Given the description of an element on the screen output the (x, y) to click on. 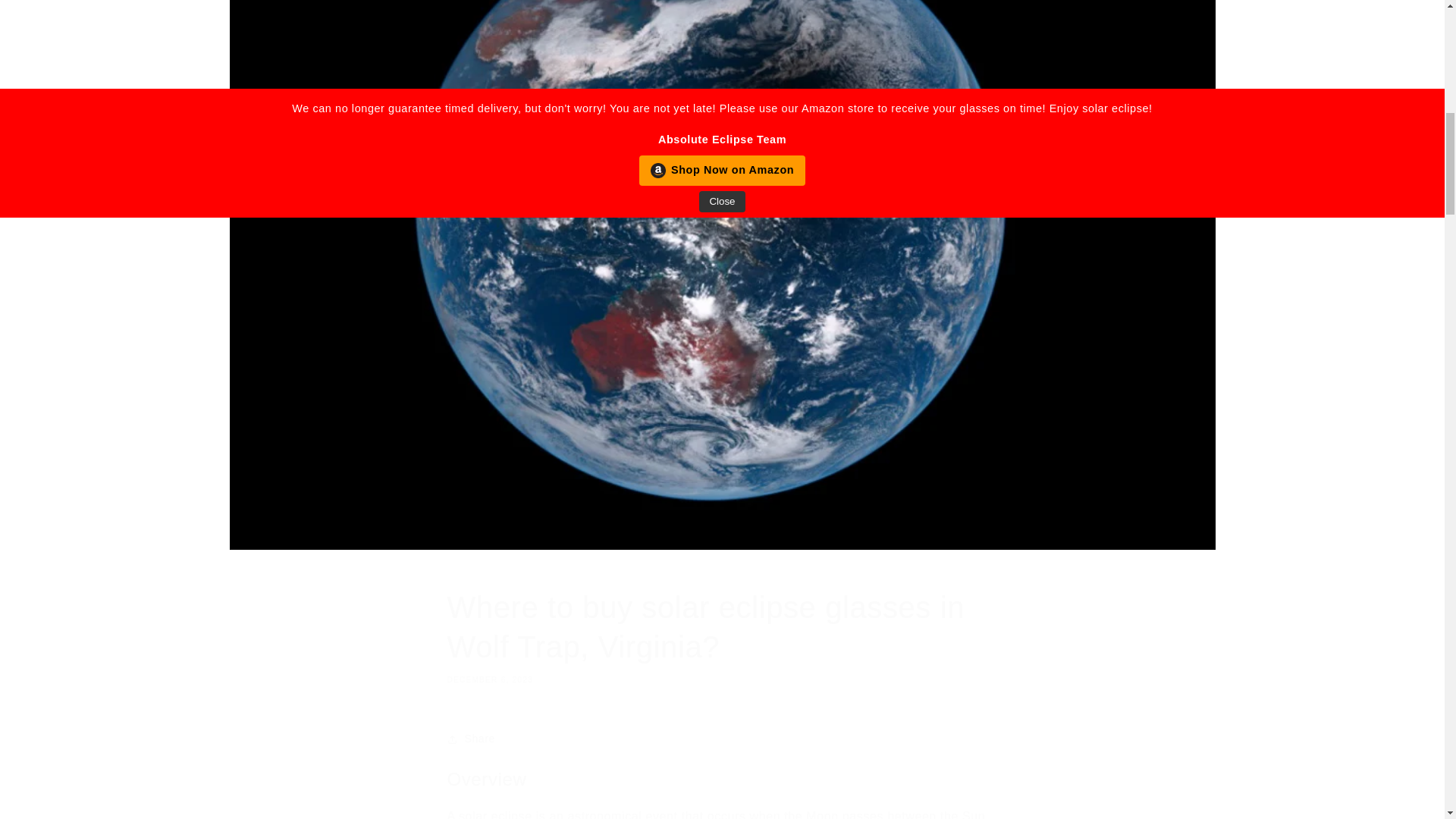
Share (721, 738)
